Given the description of an element on the screen output the (x, y) to click on. 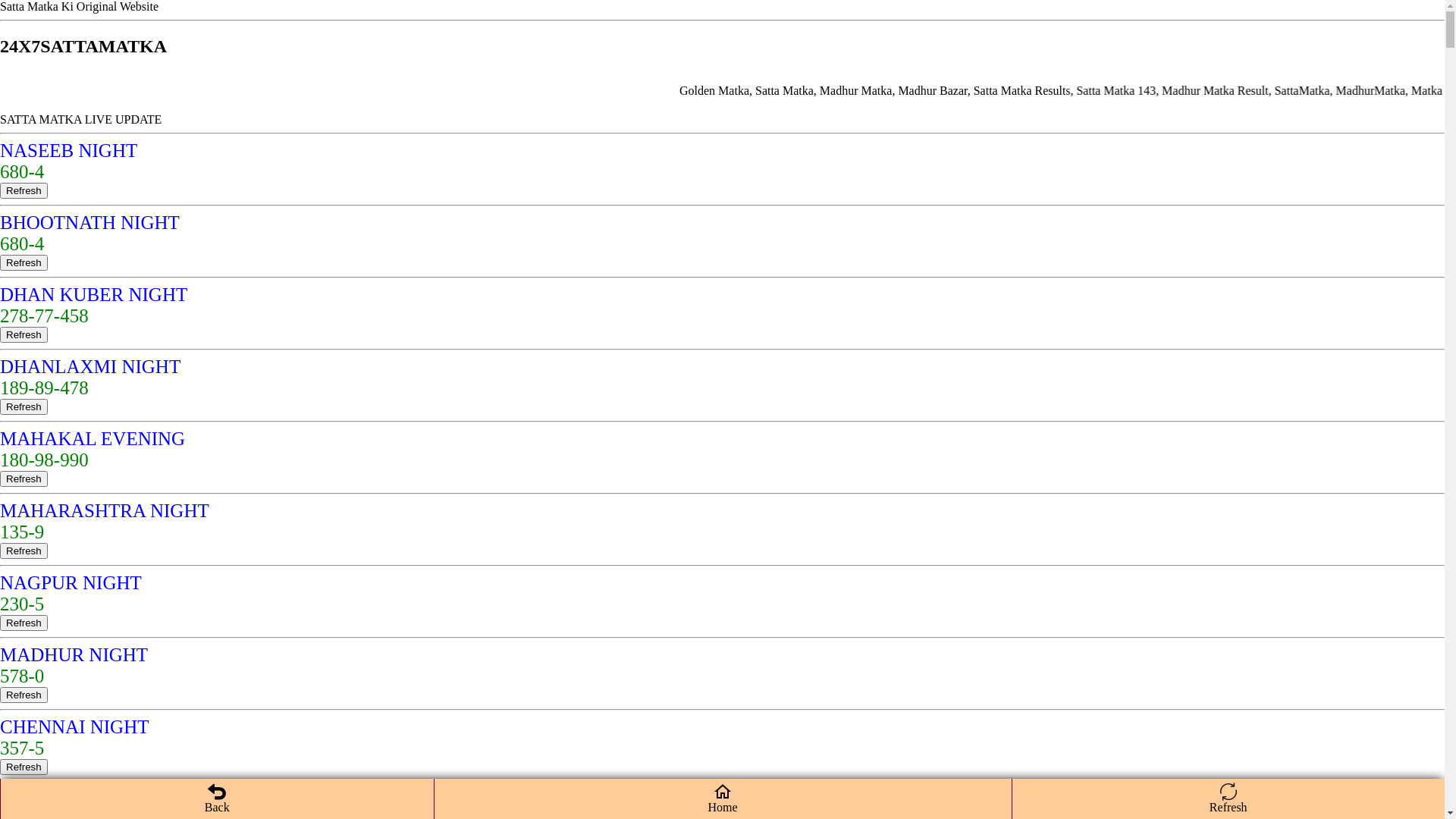
Refresh Element type: text (23, 334)
Refresh Element type: text (23, 549)
Refresh Element type: text (23, 550)
Refresh Element type: text (23, 478)
Refresh Element type: text (23, 406)
Refresh Element type: text (23, 477)
Refresh Element type: text (23, 261)
Refresh Element type: text (23, 621)
Refresh Element type: text (23, 333)
Refresh Element type: text (23, 767)
Refresh Element type: text (23, 693)
Refresh Element type: text (23, 405)
Refresh Element type: text (23, 765)
Refresh Element type: text (23, 189)
Refresh Element type: text (23, 190)
Refresh Element type: text (23, 622)
Refresh Element type: text (23, 694)
Refresh Element type: text (23, 262)
